Given the description of an element on the screen output the (x, y) to click on. 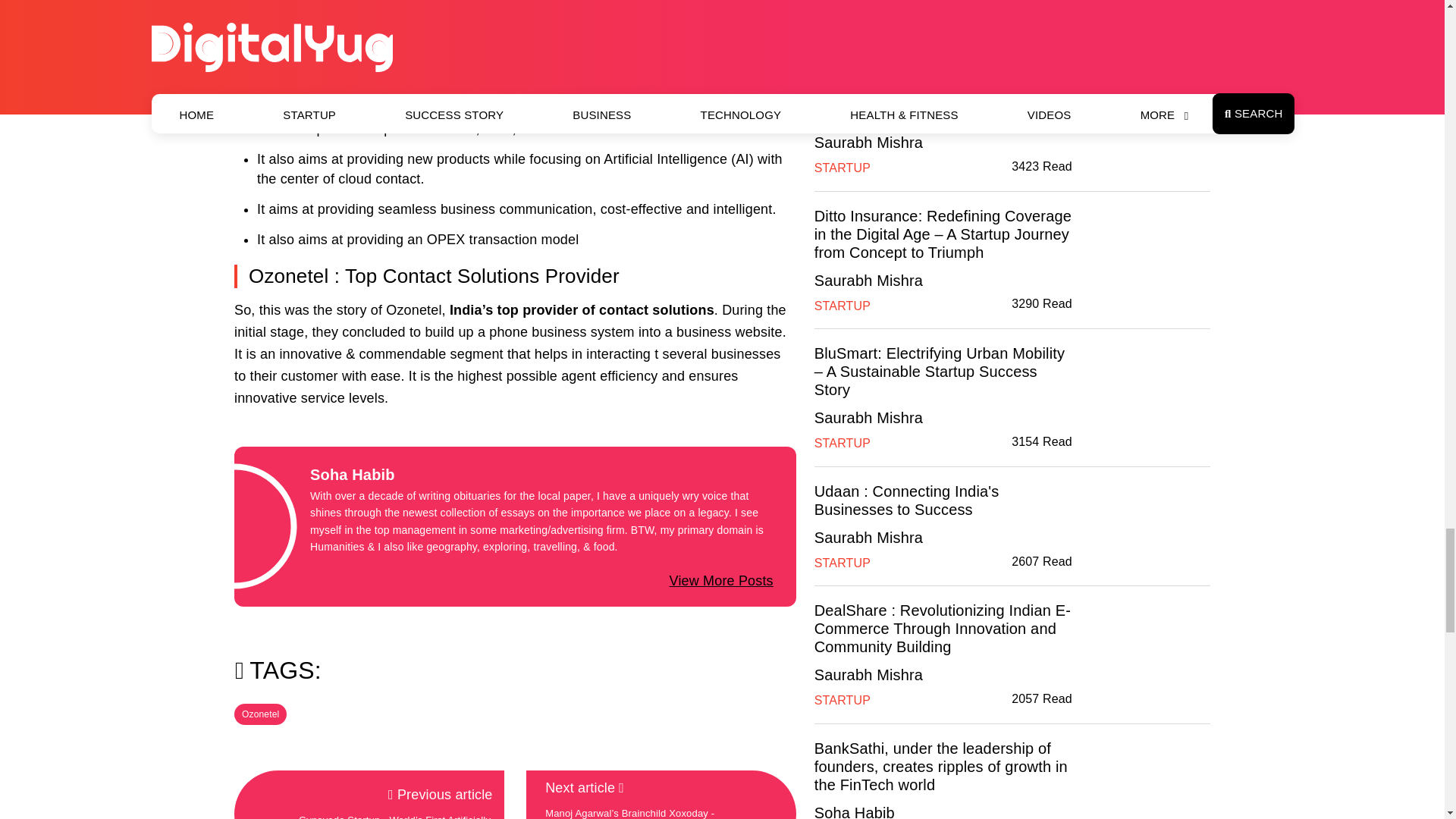
Ozonetel (260, 713)
View More Posts (721, 580)
